Given the description of an element on the screen output the (x, y) to click on. 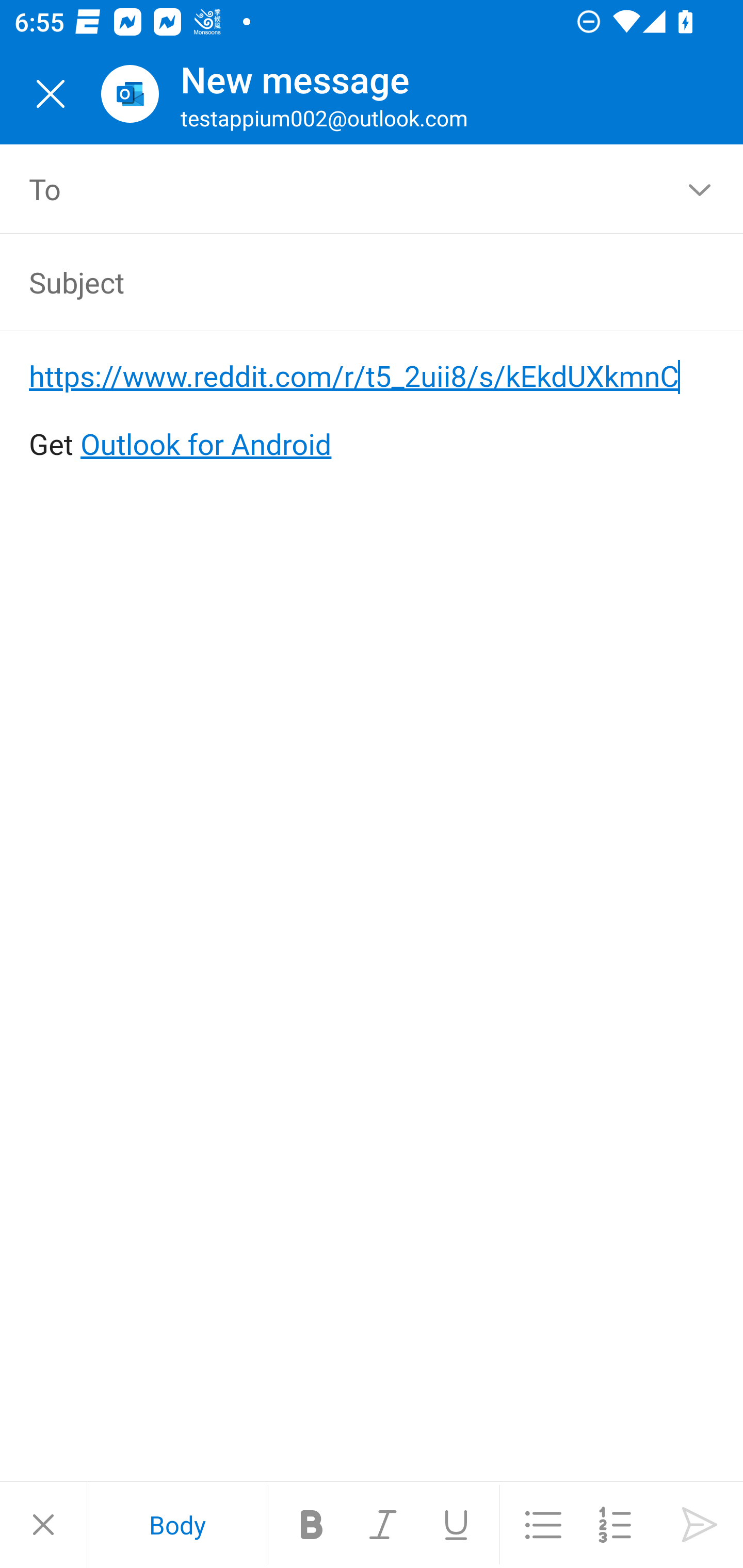
Close (50, 93)
Subject (342, 281)
Close (43, 1524)
Send (699, 1524)
Font style button body Body (176, 1524)
Bold (311, 1524)
Italics (384, 1524)
Underline (456, 1524)
Bulleted list (543, 1524)
Numbered list (615, 1524)
